Given the description of an element on the screen output the (x, y) to click on. 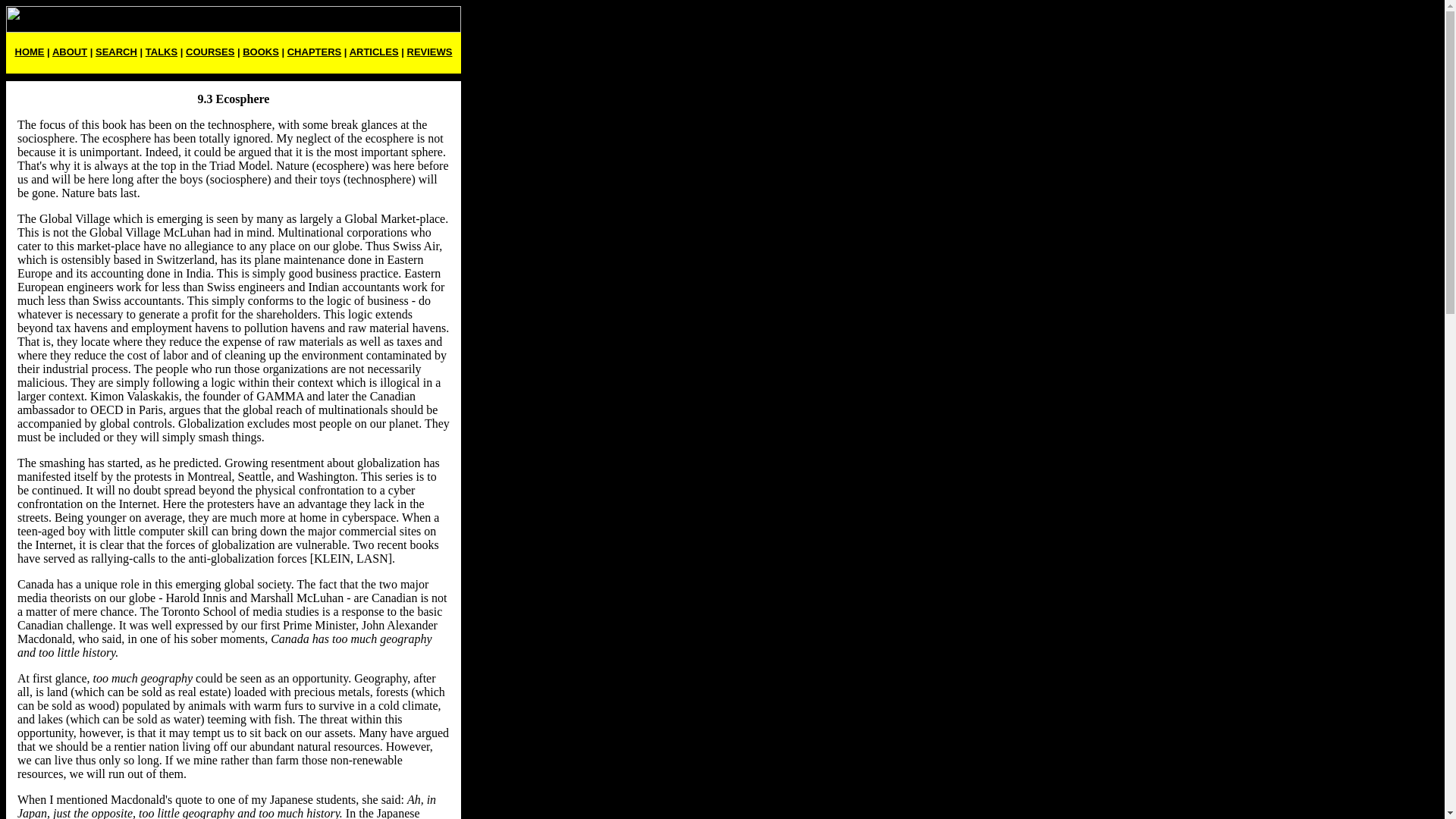
ABOUT (69, 51)
COURSES (210, 51)
SEARCH (116, 51)
ARTICLES (373, 51)
HOME (29, 51)
CHAPTERS (314, 51)
REVIEWS (429, 51)
TALKS (161, 51)
BOOKS (261, 51)
